Given the description of an element on the screen output the (x, y) to click on. 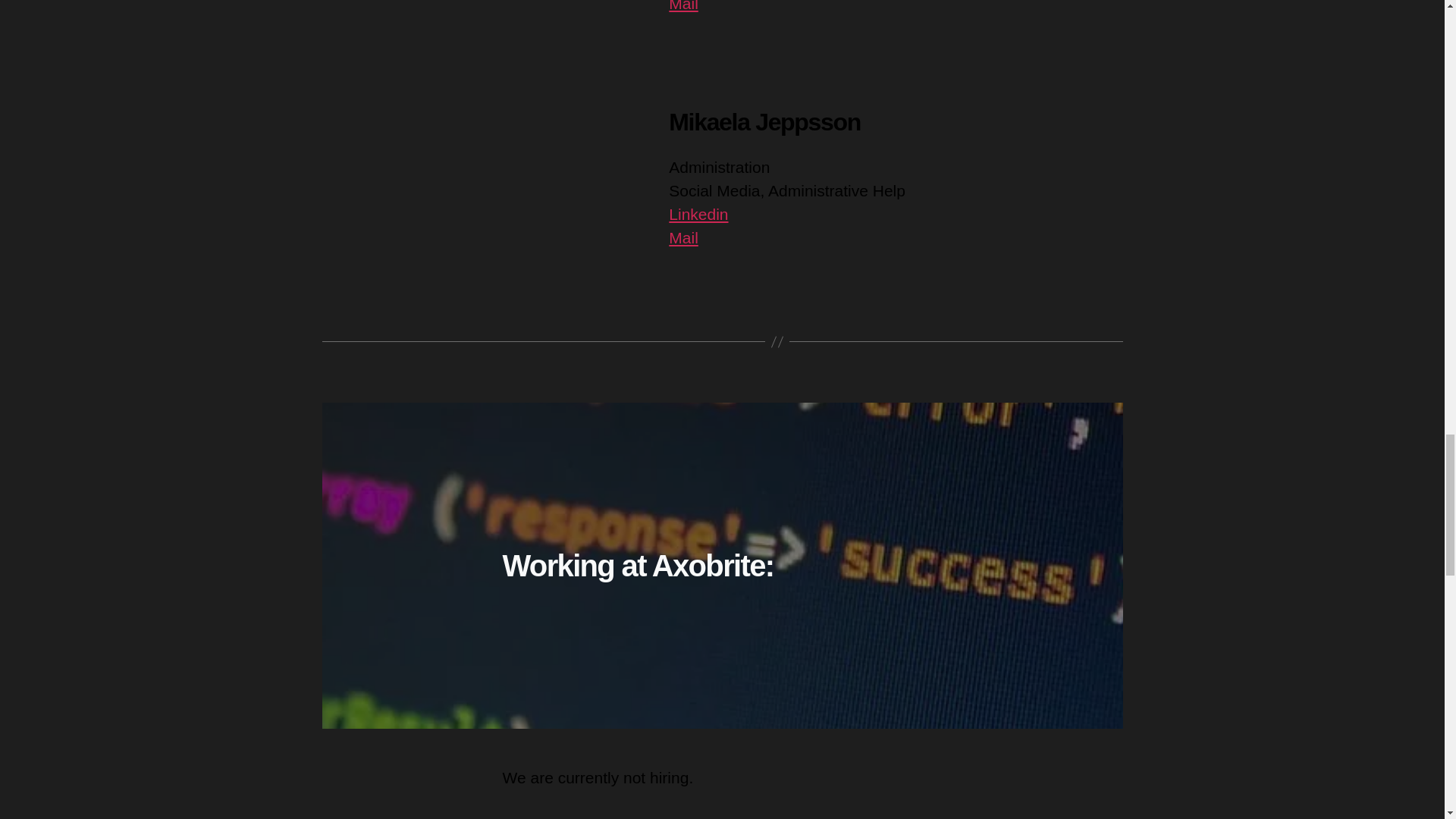
Mail (683, 237)
Mail (683, 6)
Linkedin (698, 213)
